Given the description of an element on the screen output the (x, y) to click on. 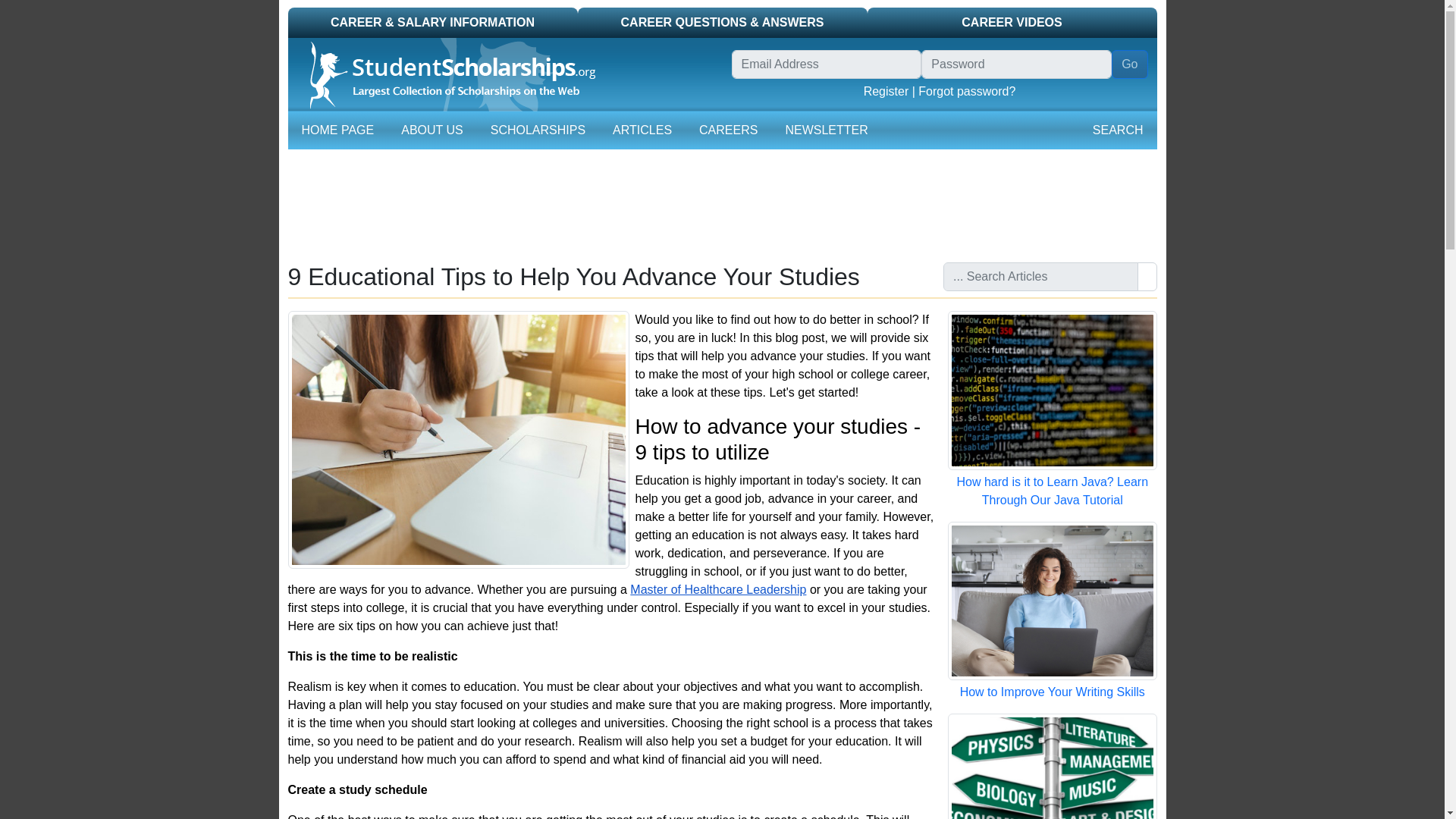
SEARCH (1118, 130)
CAREERS (727, 130)
Forgot password? (966, 91)
HOME PAGE (337, 130)
ARTICLES (642, 130)
Master of Healthcare Leadership (718, 589)
Go (1129, 63)
SCHOLARSHIPS (537, 130)
StudentScholarships (446, 74)
Student Scholarships (505, 74)
CAREER VIDEOS (1012, 22)
ABOUT US (431, 130)
Register (885, 91)
NEWSLETTER (825, 130)
